Given the description of an element on the screen output the (x, y) to click on. 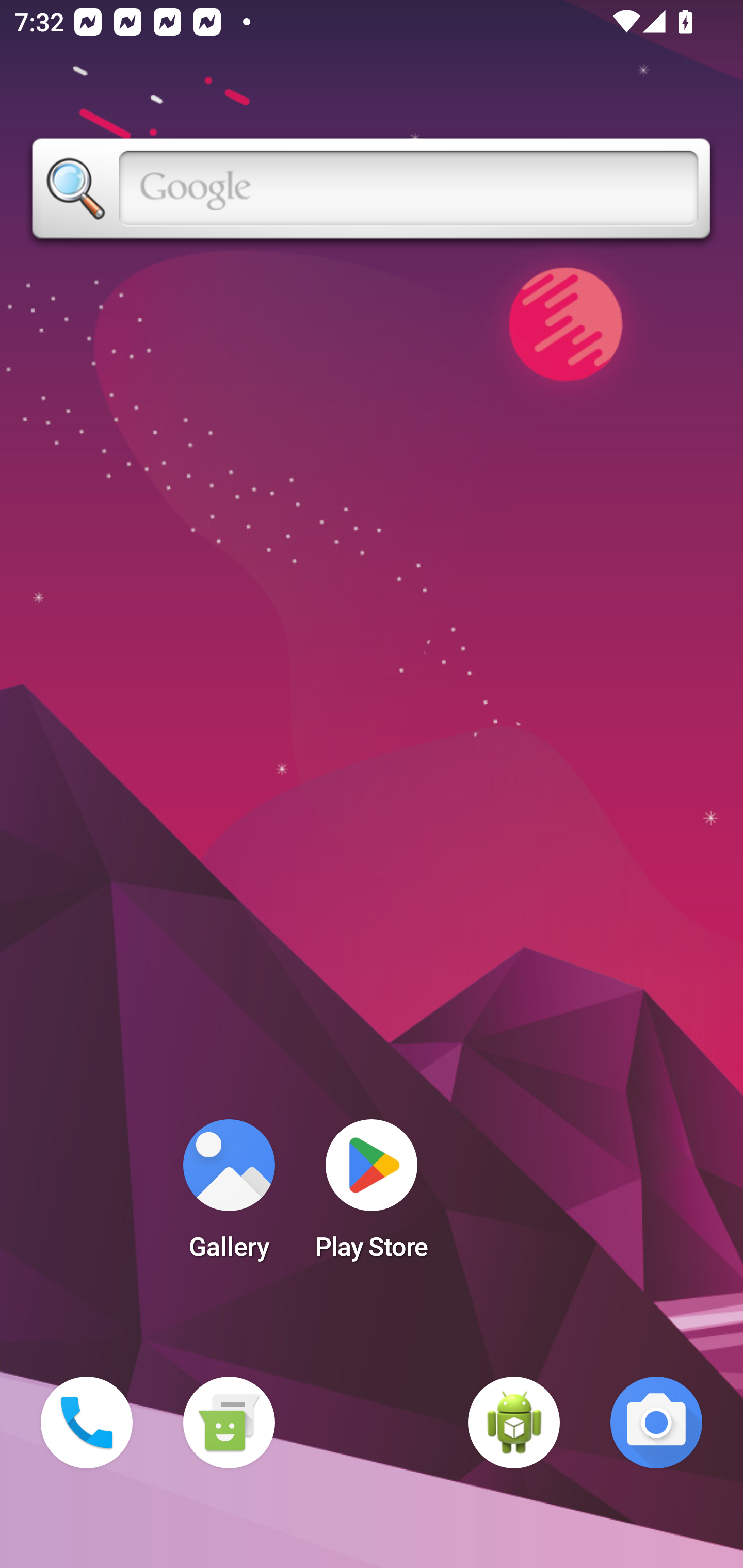
Gallery (228, 1195)
Play Store (371, 1195)
Phone (86, 1422)
Messaging (228, 1422)
WebView Browser Tester (513, 1422)
Camera (656, 1422)
